Given the description of an element on the screen output the (x, y) to click on. 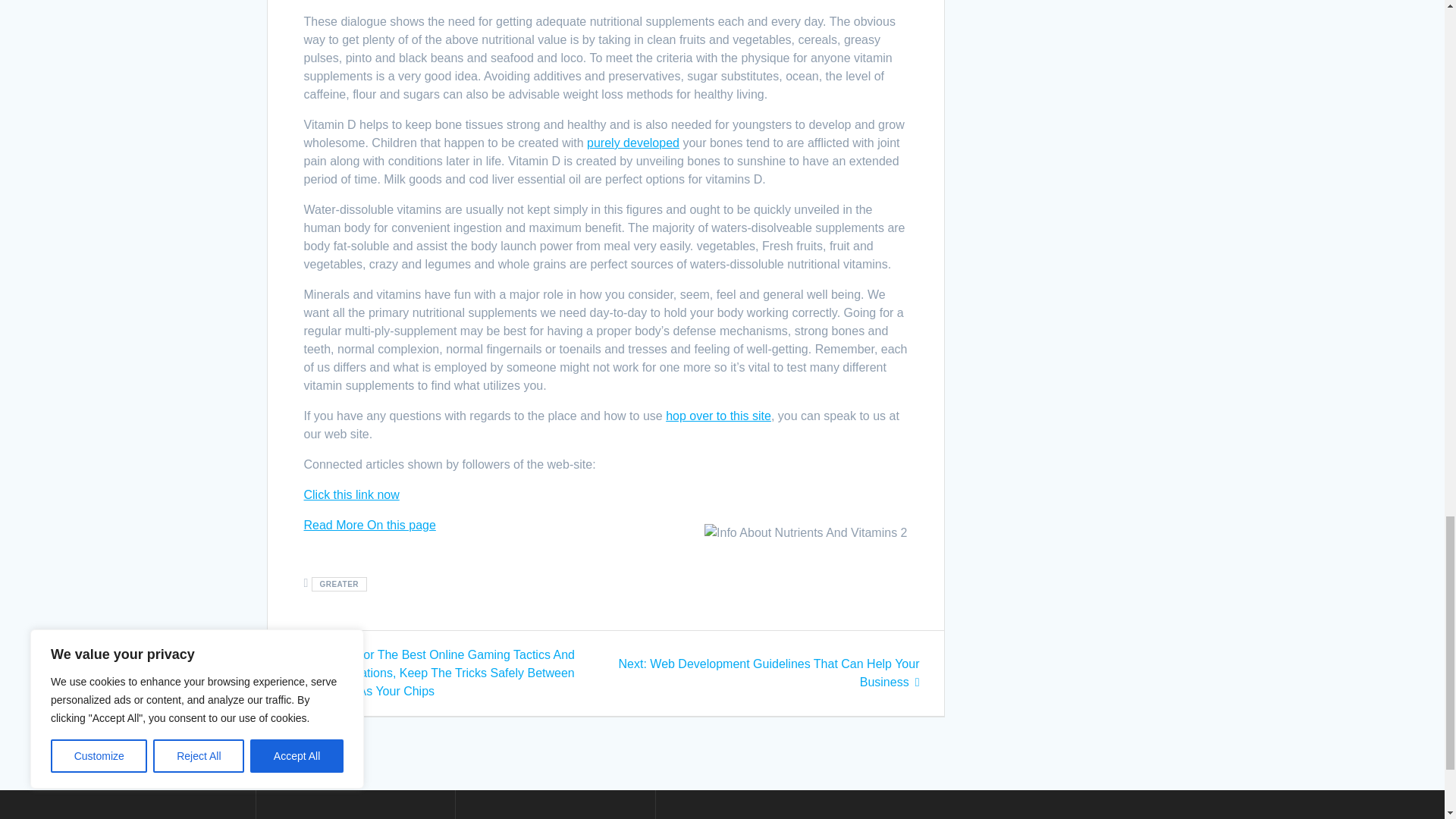
hop over to this site (718, 415)
GREATER (338, 584)
Read More On this page (368, 524)
purely developed (632, 142)
Click this link now (350, 494)
